Given the description of an element on the screen output the (x, y) to click on. 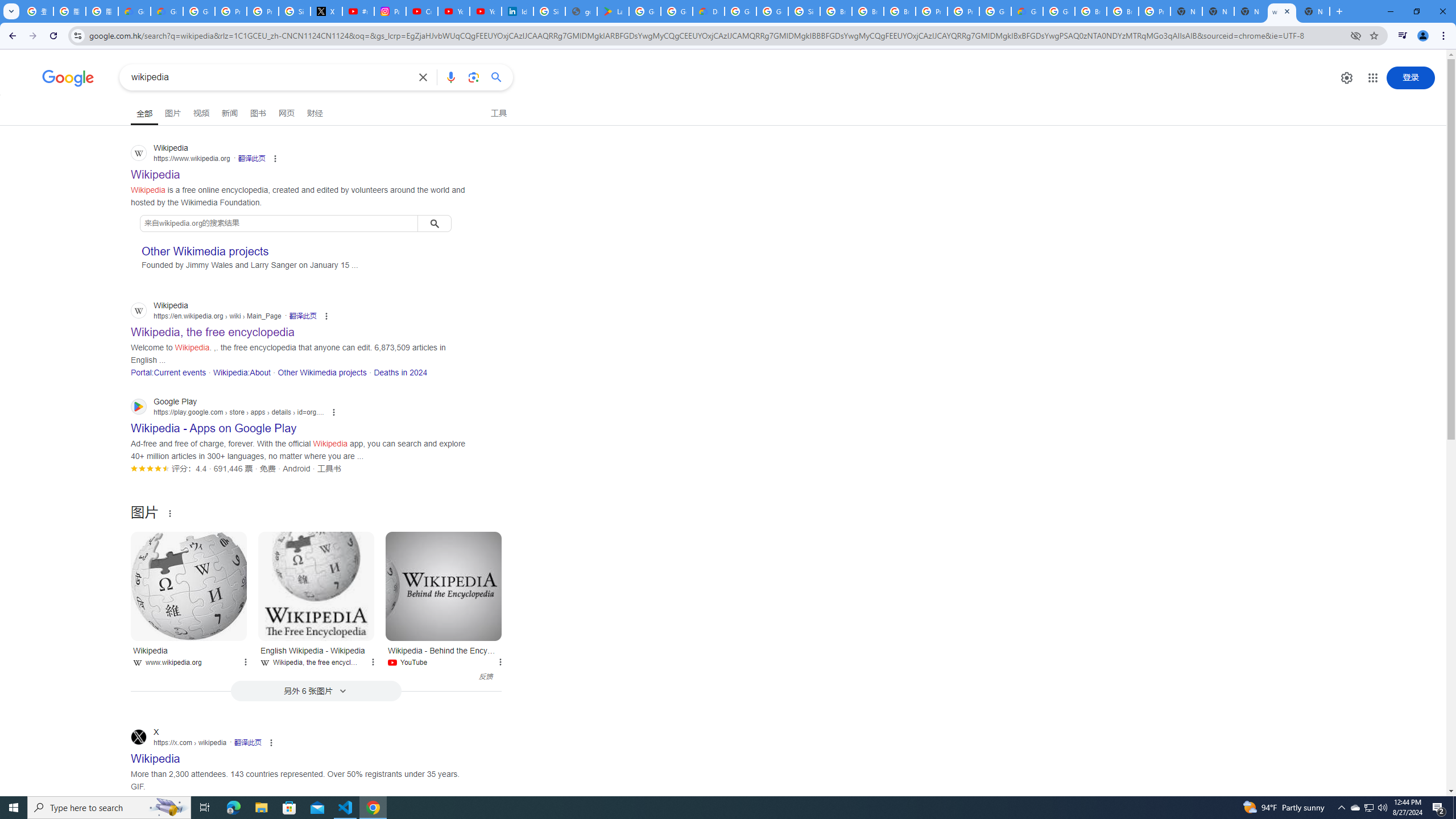
Last Shelter: Survival - Apps on Google Play (613, 11)
Sign in - Google Accounts (549, 11)
Google Cloud Privacy Notice (134, 11)
New Tab (1313, 11)
Control your music, videos, and more (1402, 35)
New Tab (1185, 11)
Portal:Current events (168, 371)
